Given the description of an element on the screen output the (x, y) to click on. 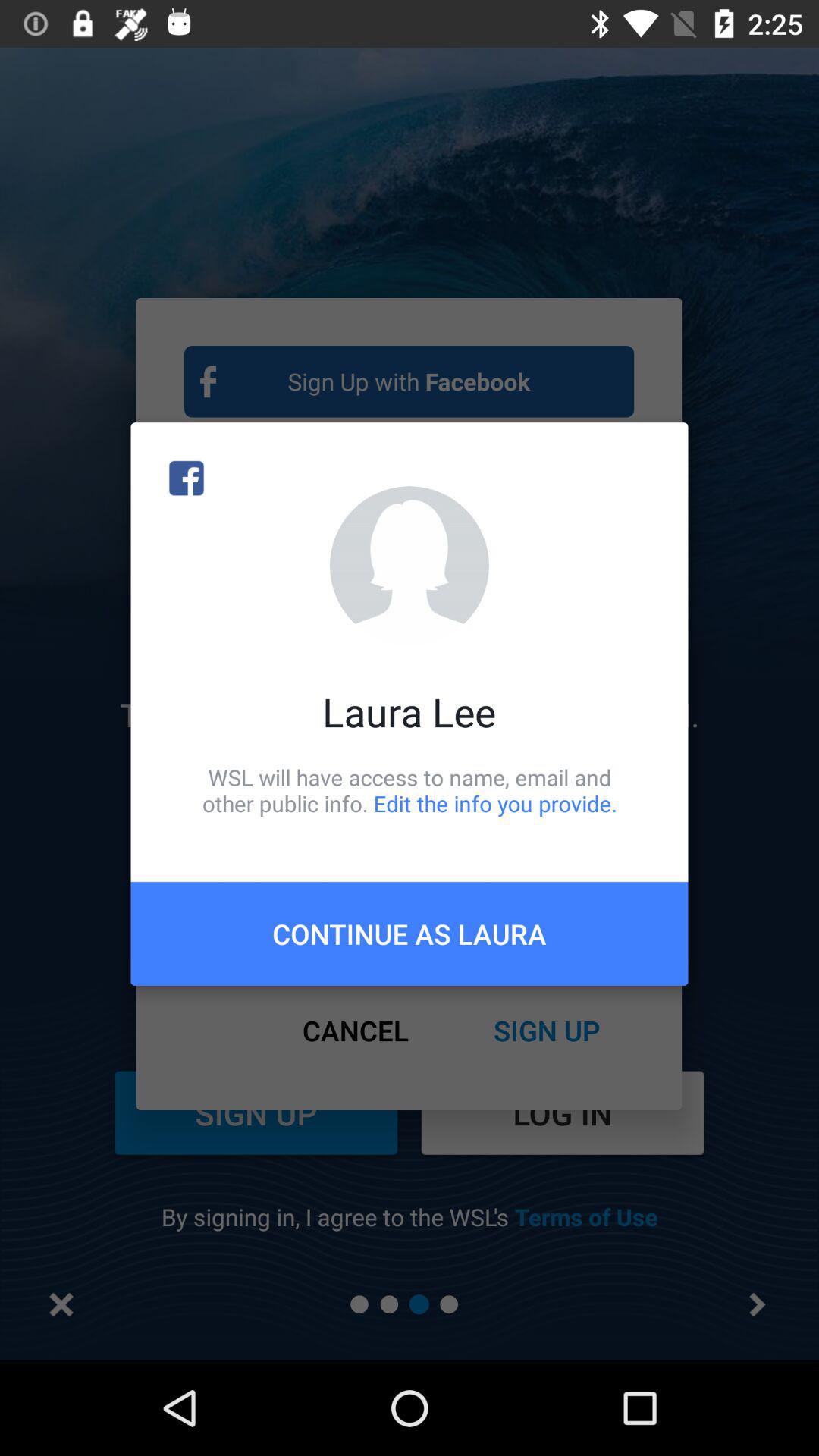
flip to wsl will have icon (409, 790)
